Given the description of an element on the screen output the (x, y) to click on. 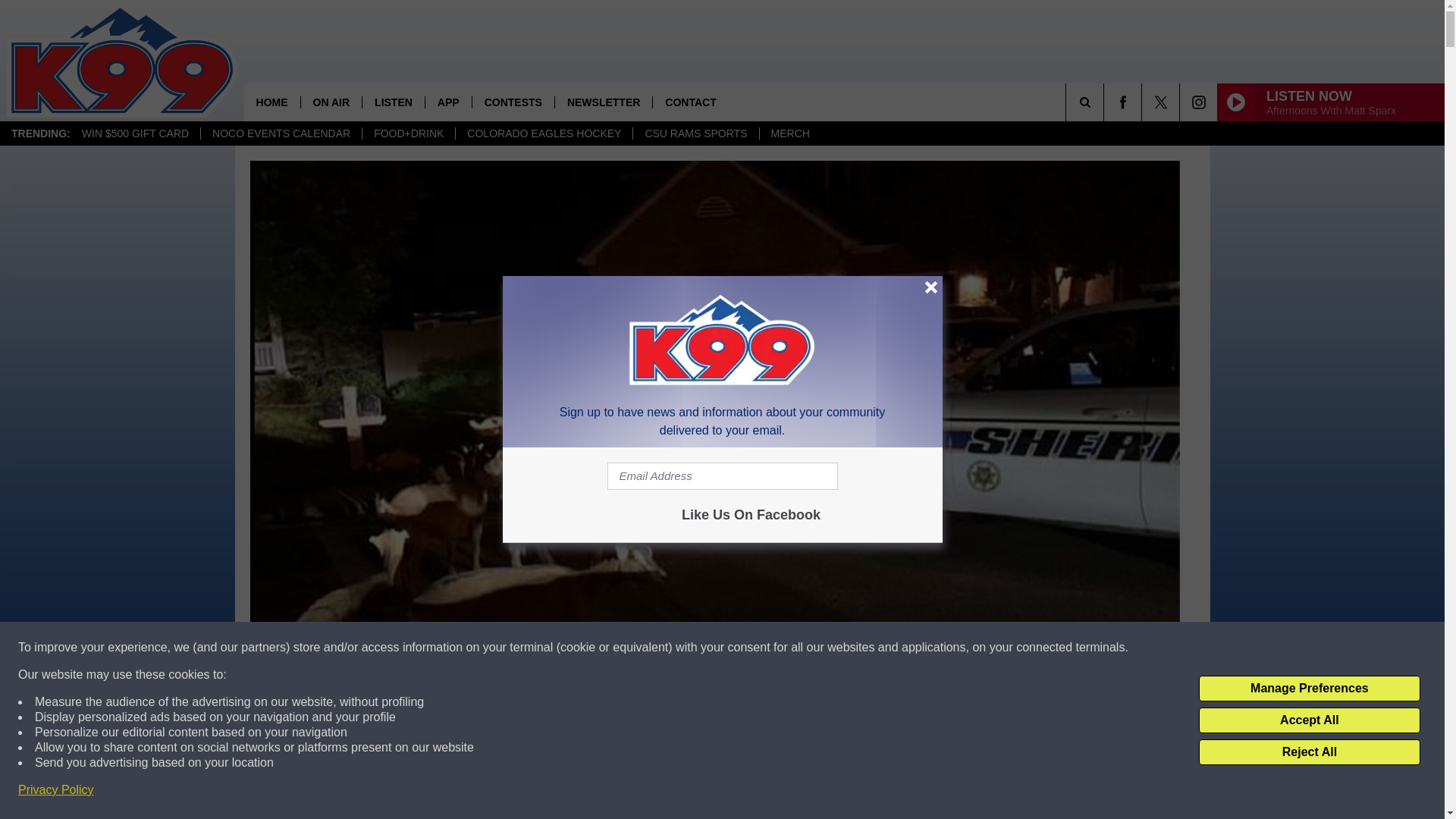
Share on Facebook (517, 791)
CONTACT (690, 102)
CSU RAMS SPORTS (694, 133)
SEARCH (1106, 102)
ON AIR (330, 102)
Share on Twitter (912, 791)
Accept All (1309, 720)
MERCH (789, 133)
Reject All (1309, 751)
APP (448, 102)
Email Address (722, 475)
LISTEN (393, 102)
SEARCH (1106, 102)
Privacy Policy (55, 789)
Manage Preferences (1309, 688)
